Given the description of an element on the screen output the (x, y) to click on. 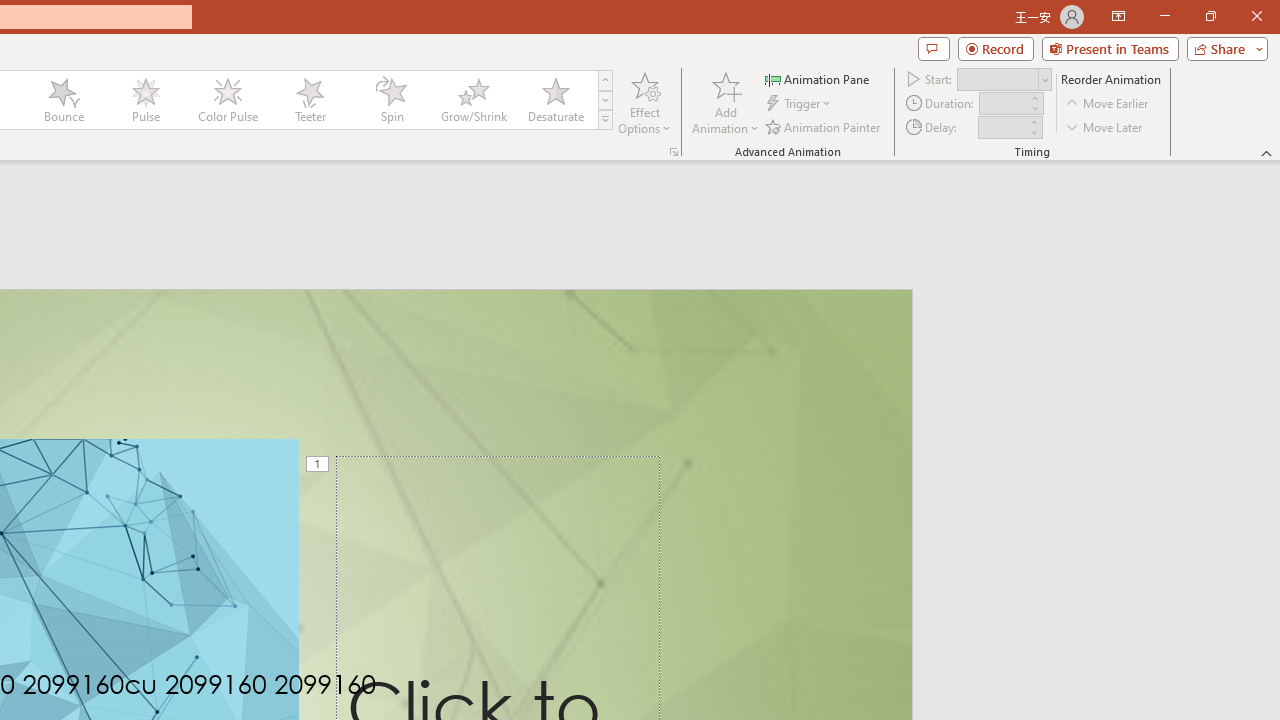
Animation Styles (605, 120)
Animation Delay (1002, 127)
Teeter (309, 100)
Desaturate (555, 100)
Spin (391, 100)
Animation Pane (818, 78)
Move Later (1105, 126)
